Given the description of an element on the screen output the (x, y) to click on. 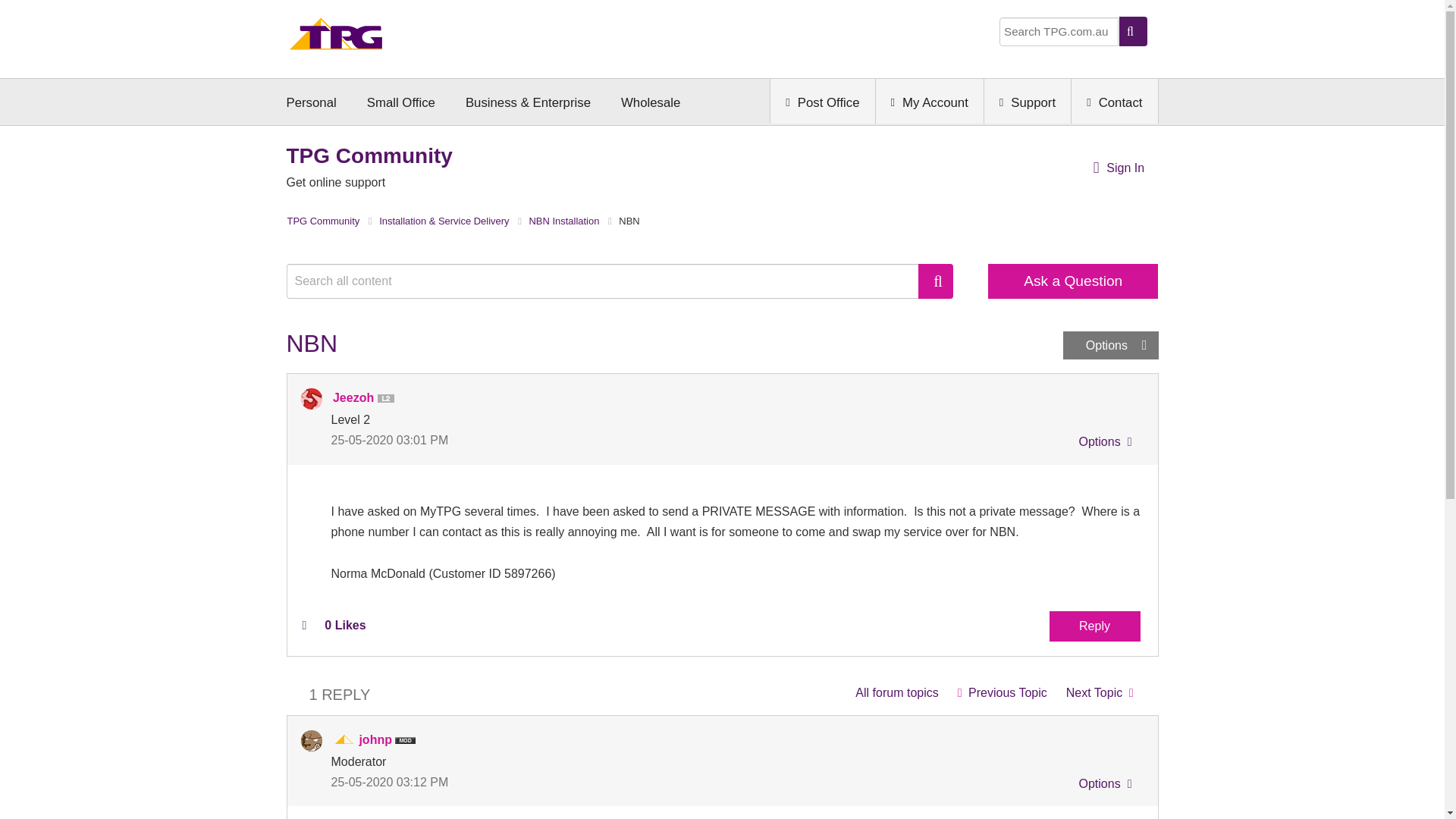
Show option menu (1103, 443)
Level 2 (388, 398)
The total number of kudos this post has received. (344, 624)
Moderator (344, 740)
johnp (310, 740)
Home (335, 38)
Confirm address (1002, 692)
Search (935, 280)
NBN (1099, 692)
Search (935, 280)
Posted on (526, 439)
NBN Installation (896, 692)
Show option menu (1110, 345)
Jeezoh (310, 398)
Search (610, 280)
